Given the description of an element on the screen output the (x, y) to click on. 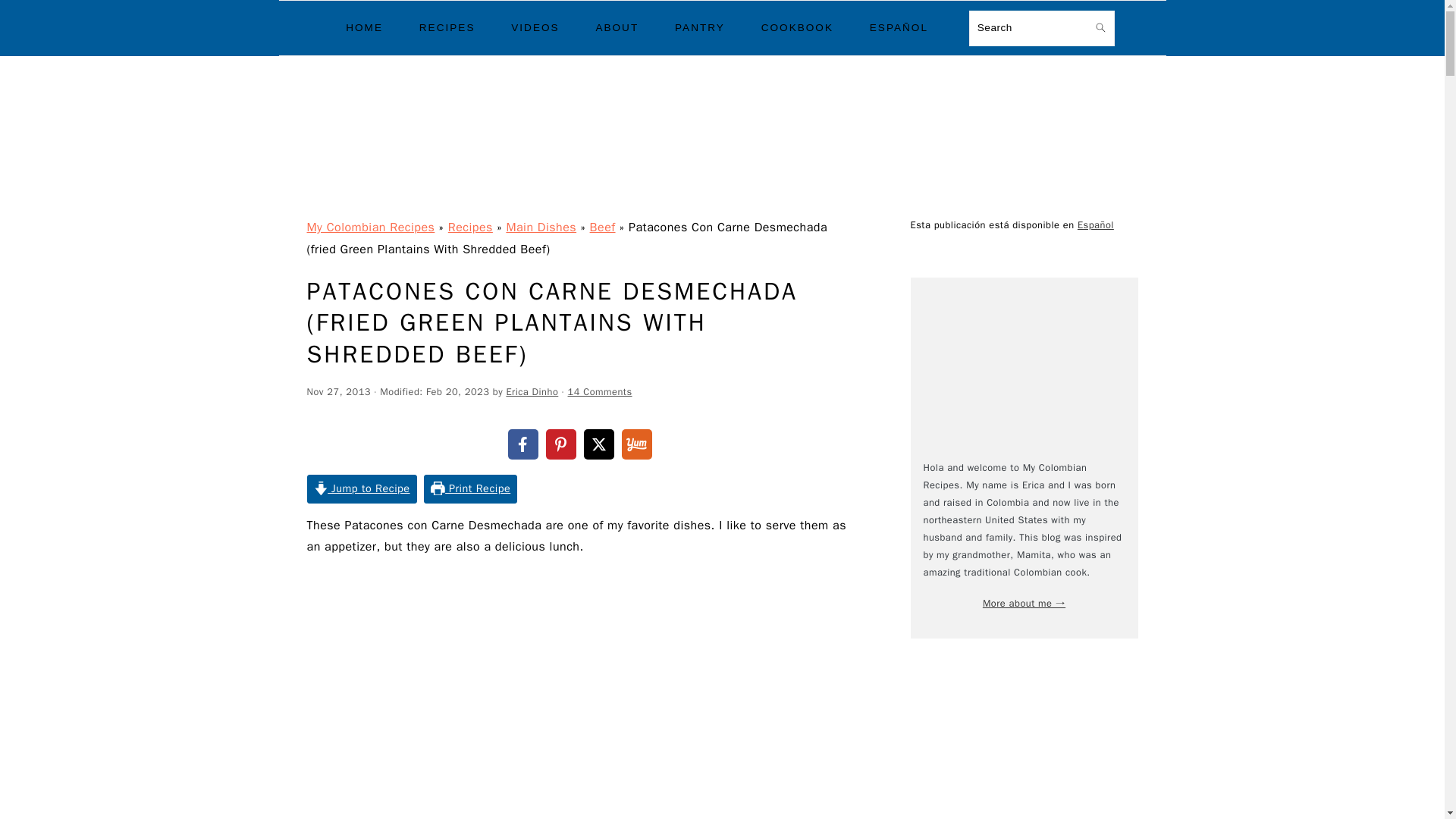
PANTRY (700, 27)
VIDEOS (535, 27)
ABOUT (616, 27)
COOKBOOK (796, 27)
My Colombian Recipes (722, 193)
HOME (364, 27)
RECIPES (447, 27)
